Given the description of an element on the screen output the (x, y) to click on. 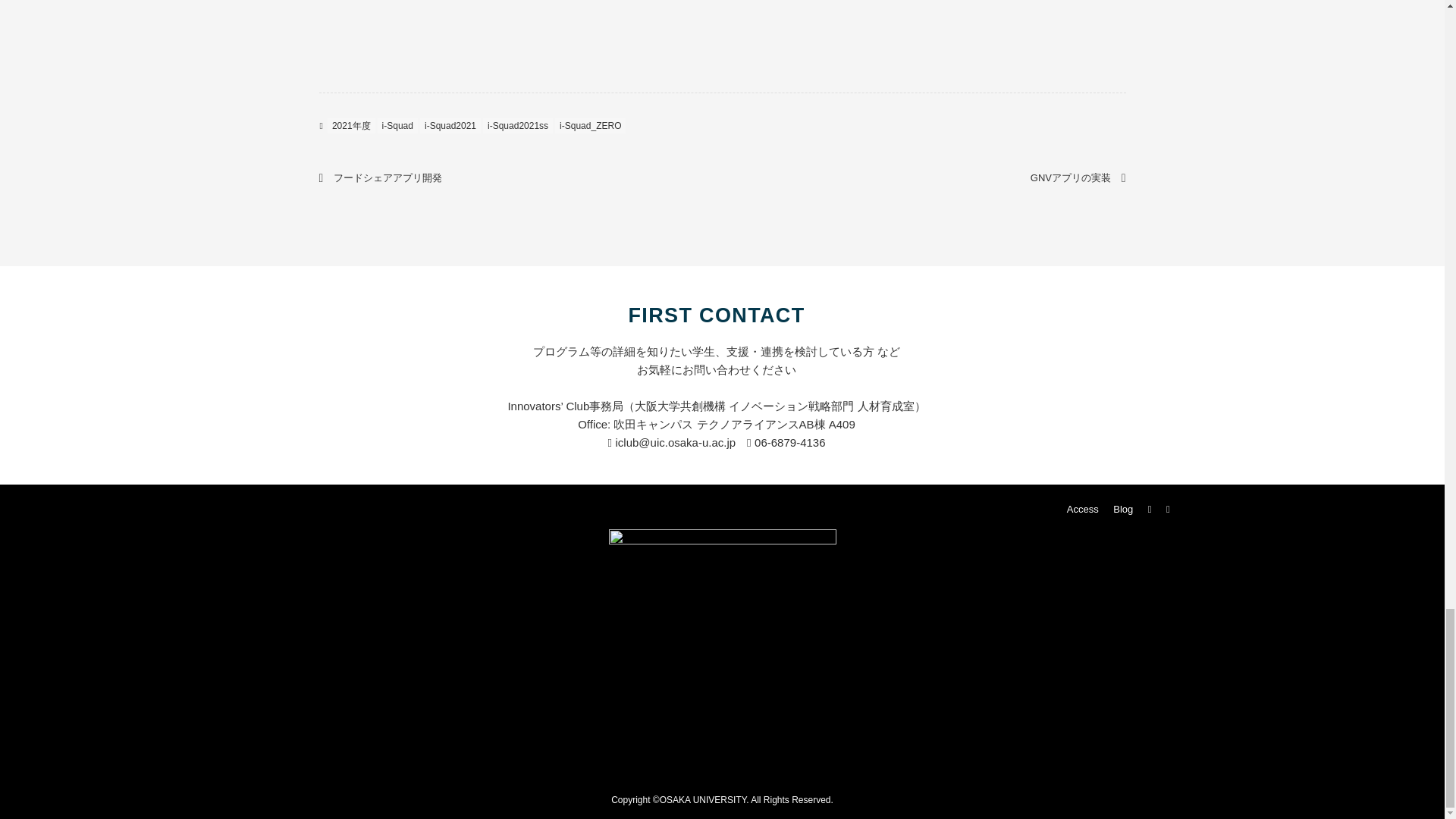
i-Squad2021 (450, 125)
Blog (1122, 509)
06-6879-4136 (785, 441)
Access (1082, 509)
i-Squad2021ss (518, 125)
i-Squad (397, 125)
